Given the description of an element on the screen output the (x, y) to click on. 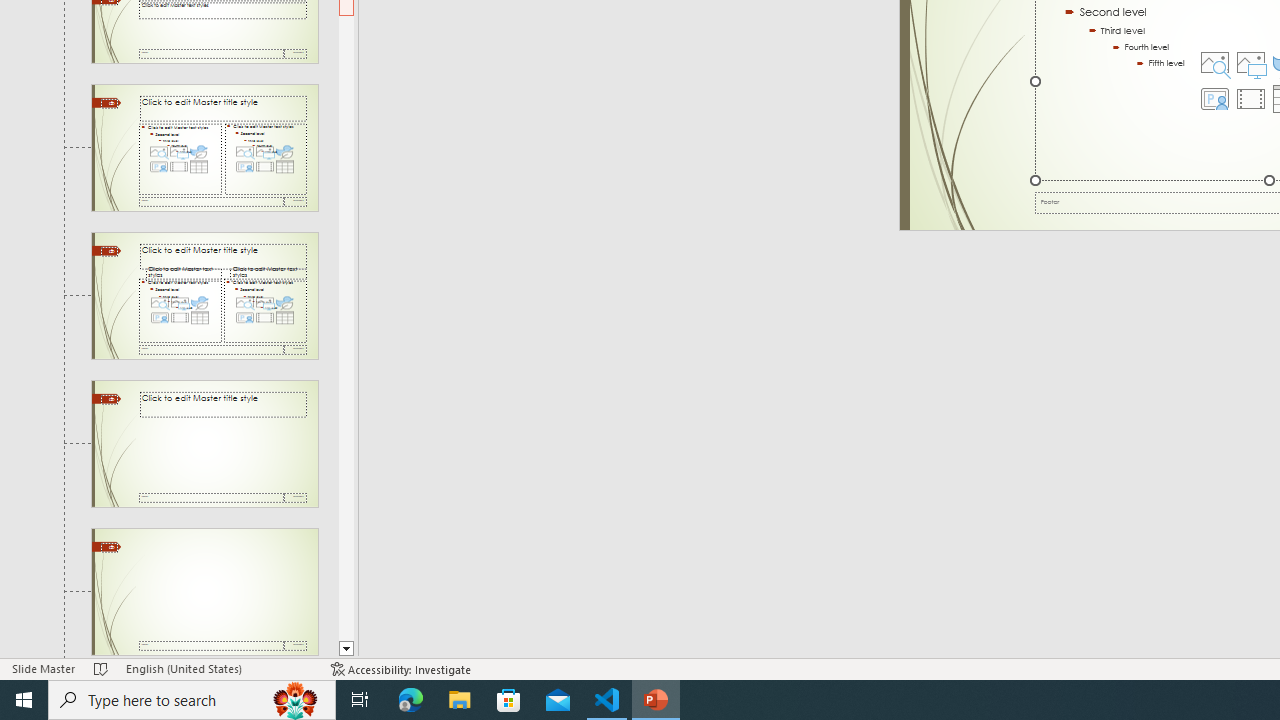
Insert Video (1251, 98)
Slide Comparison Layout: used by no slides (204, 296)
Pictures (1251, 62)
Accessibility Checker Accessibility: Investigate (401, 668)
Insert Cameo (1215, 98)
Stock Images (1215, 62)
Slide Title Only Layout: used by no slides (204, 443)
Slide Two Content Layout: used by no slides (204, 147)
Page down (345, 327)
Line down (345, 649)
Slide Blank Layout: used by no slides (204, 592)
